Given the description of an element on the screen output the (x, y) to click on. 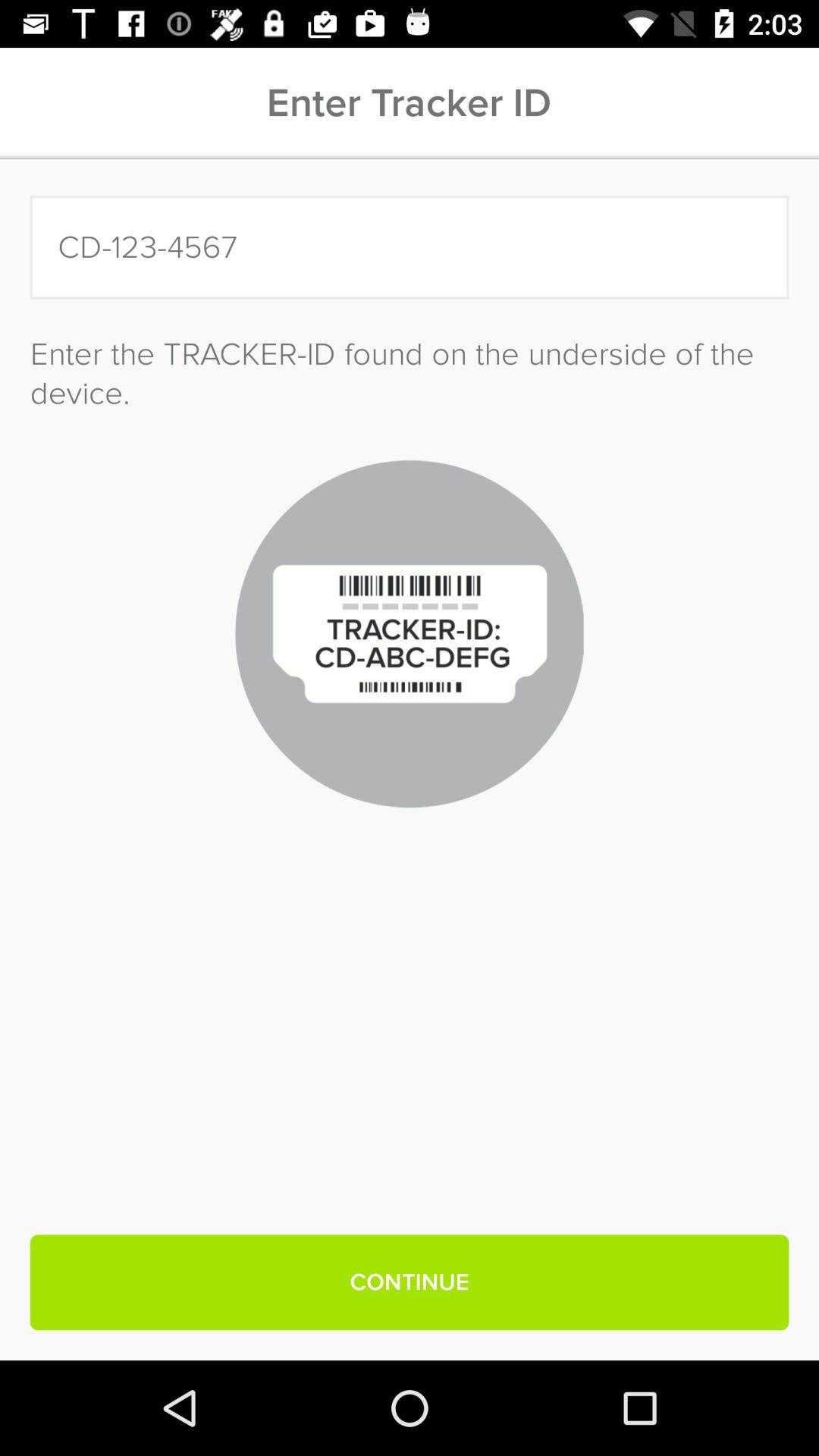
input tracker id here (409, 247)
